Given the description of an element on the screen output the (x, y) to click on. 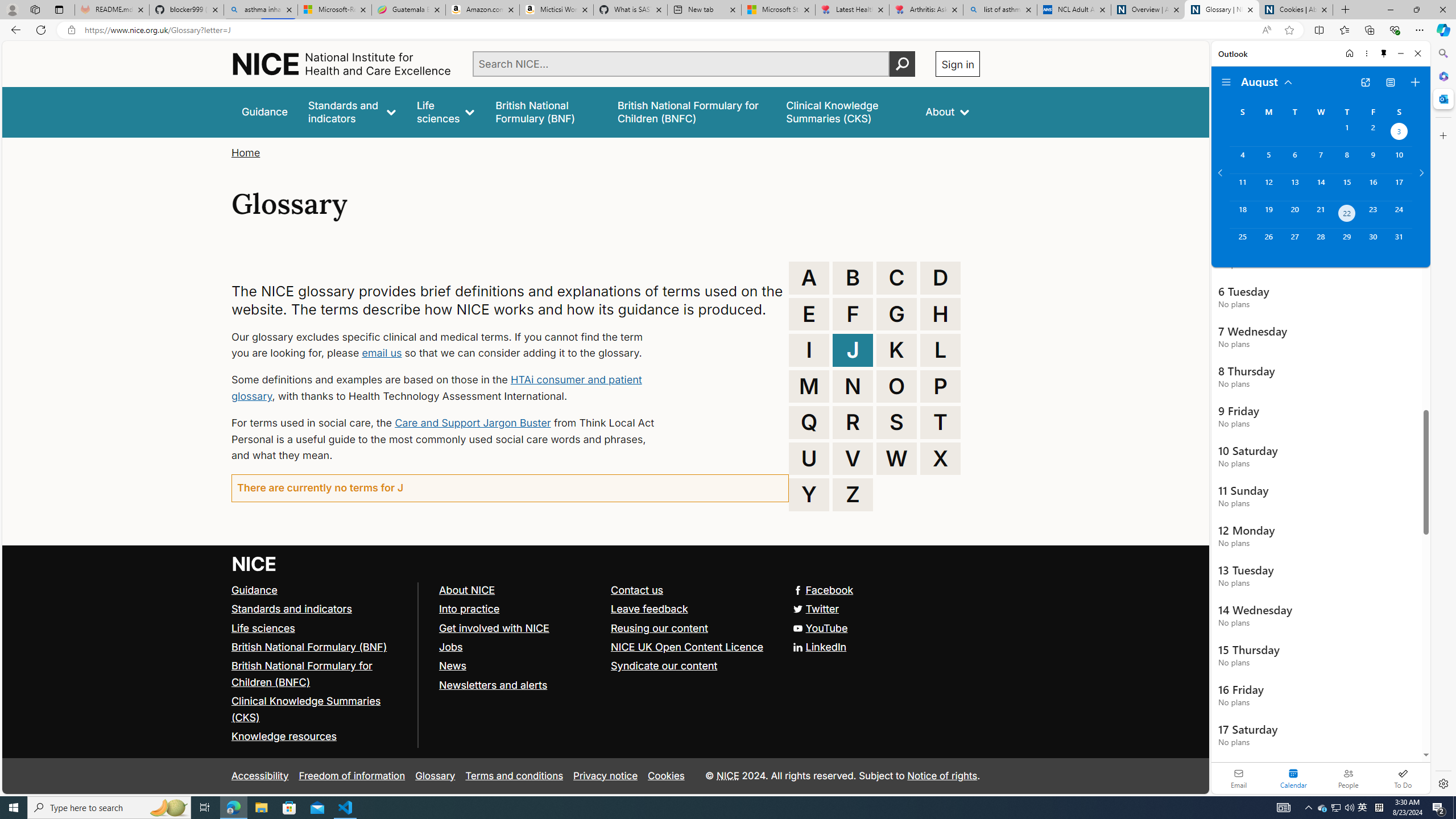
Y (809, 494)
Guidance (254, 589)
Life sciences (319, 628)
Into practice (518, 609)
Saturday, August 31, 2024.  (1399, 241)
V (852, 458)
T (940, 422)
A (809, 277)
M (809, 385)
Thursday, August 15, 2024.  (1346, 186)
